Given the description of an element on the screen output the (x, y) to click on. 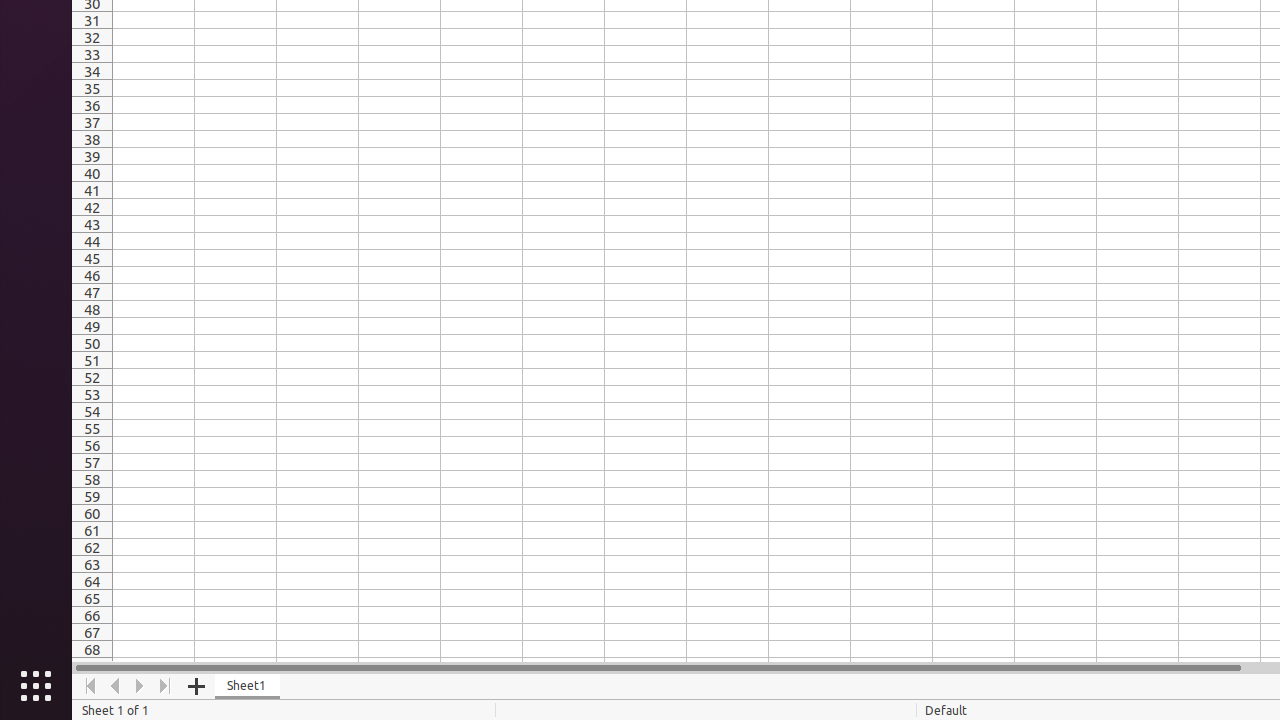
Move Left Element type: push-button (115, 686)
Sheet1 Element type: page-tab (247, 686)
Move To Home Element type: push-button (90, 686)
Move Right Element type: push-button (140, 686)
